Given the description of an element on the screen output the (x, y) to click on. 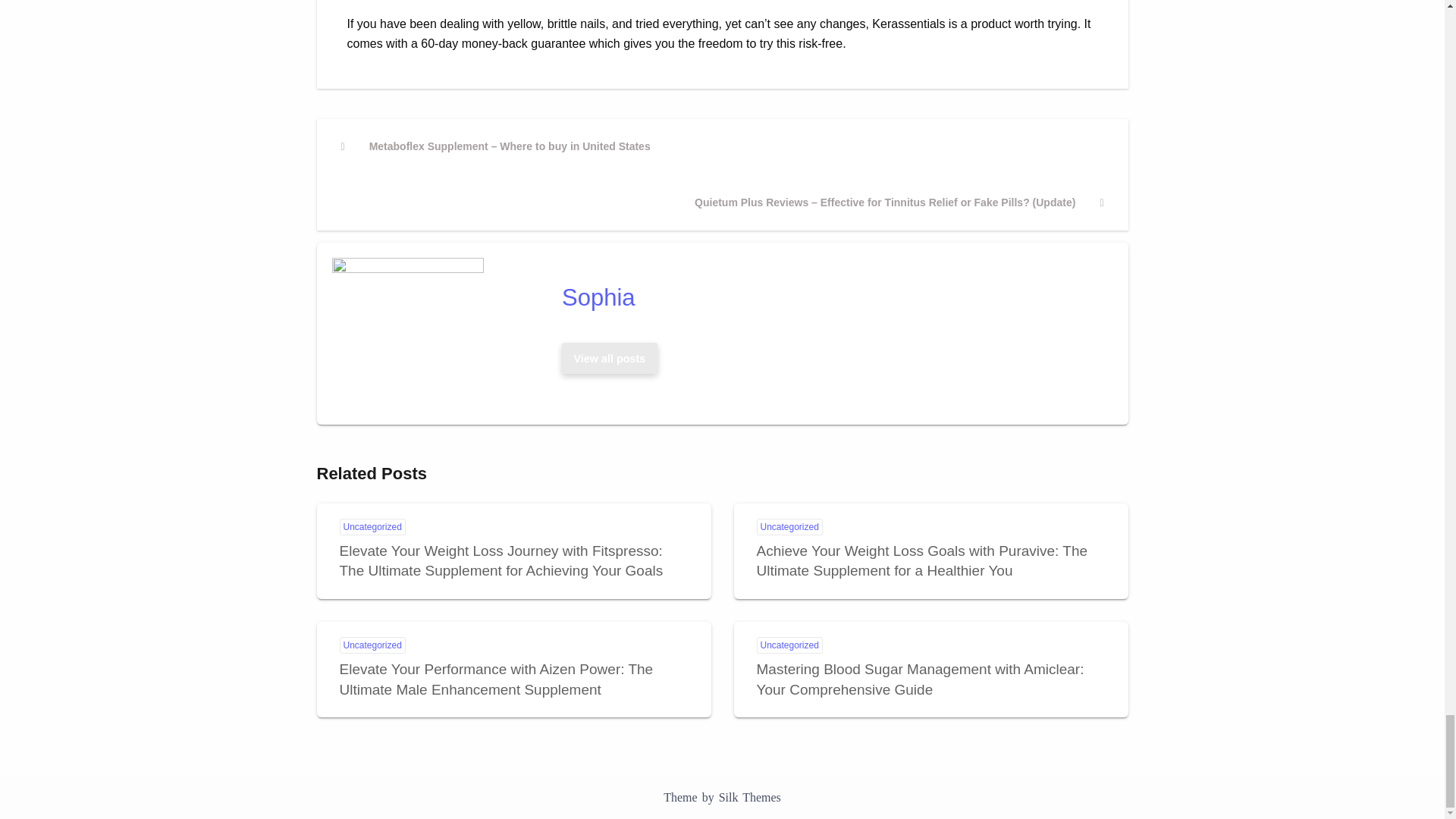
Uncategorized (789, 526)
View all posts (610, 358)
View all posts (609, 358)
Uncategorized (372, 645)
Sophia (831, 297)
Uncategorized (372, 526)
Sophia (831, 297)
Sophia (609, 358)
Theme by Silk Themes (721, 797)
Uncategorized (789, 645)
